Given the description of an element on the screen output the (x, y) to click on. 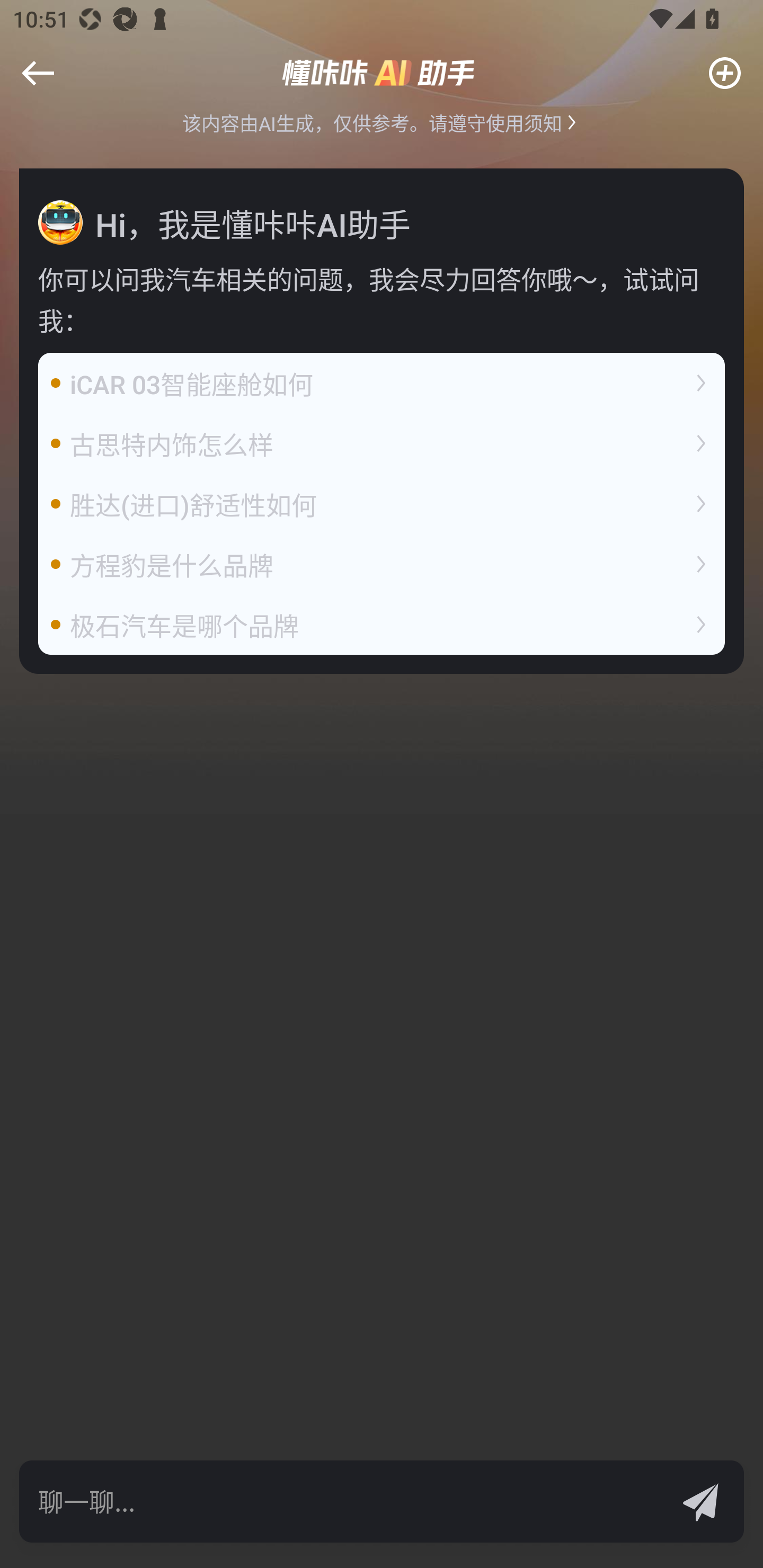
举报 (45, 85)
该内容由AI生成，仅供参考。请遵守使用须知 (381, 122)
iCAR 03智能座舱如何 (381, 382)
古思特内饰怎么样 (381, 443)
胜达(进口)舒适性如何 (381, 503)
方程豹是什么品牌 (381, 564)
极石汽车是哪个品牌 (381, 624)
